Given the description of an element on the screen output the (x, y) to click on. 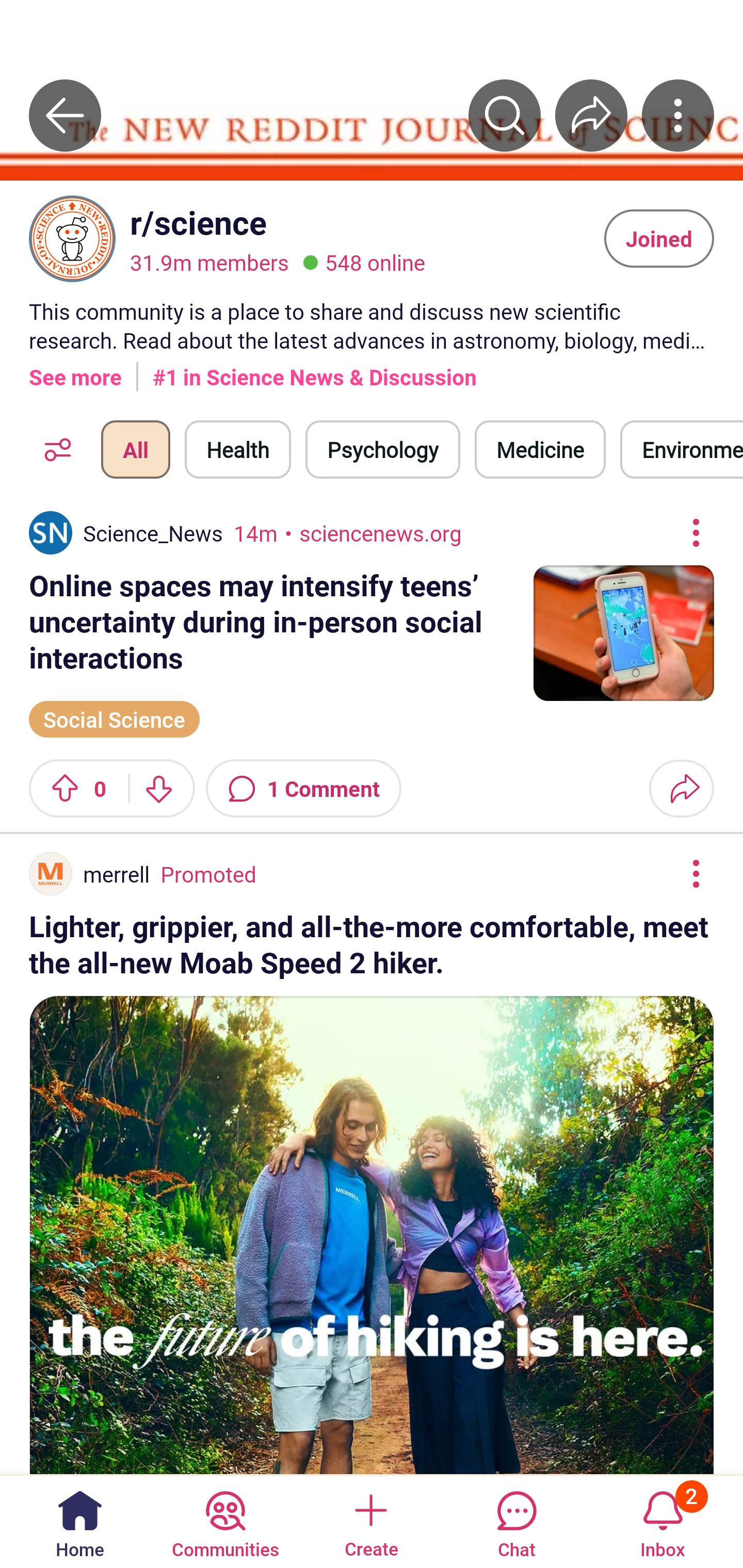
Back (64, 115)
Search r/﻿science (504, 115)
Share r/﻿science (591, 115)
More community actions (677, 115)
Feed Options (53, 449)
All (135, 449)
Health (238, 449)
Psychology (382, 449)
Medicine (539, 449)
Environment (681, 449)
Social Science (113, 716)
Home (80, 1520)
Communities (225, 1520)
Create a post Create (370, 1520)
Chat (516, 1520)
Inbox, has 2 notifications 2 Inbox (662, 1520)
